Given the description of an element on the screen output the (x, y) to click on. 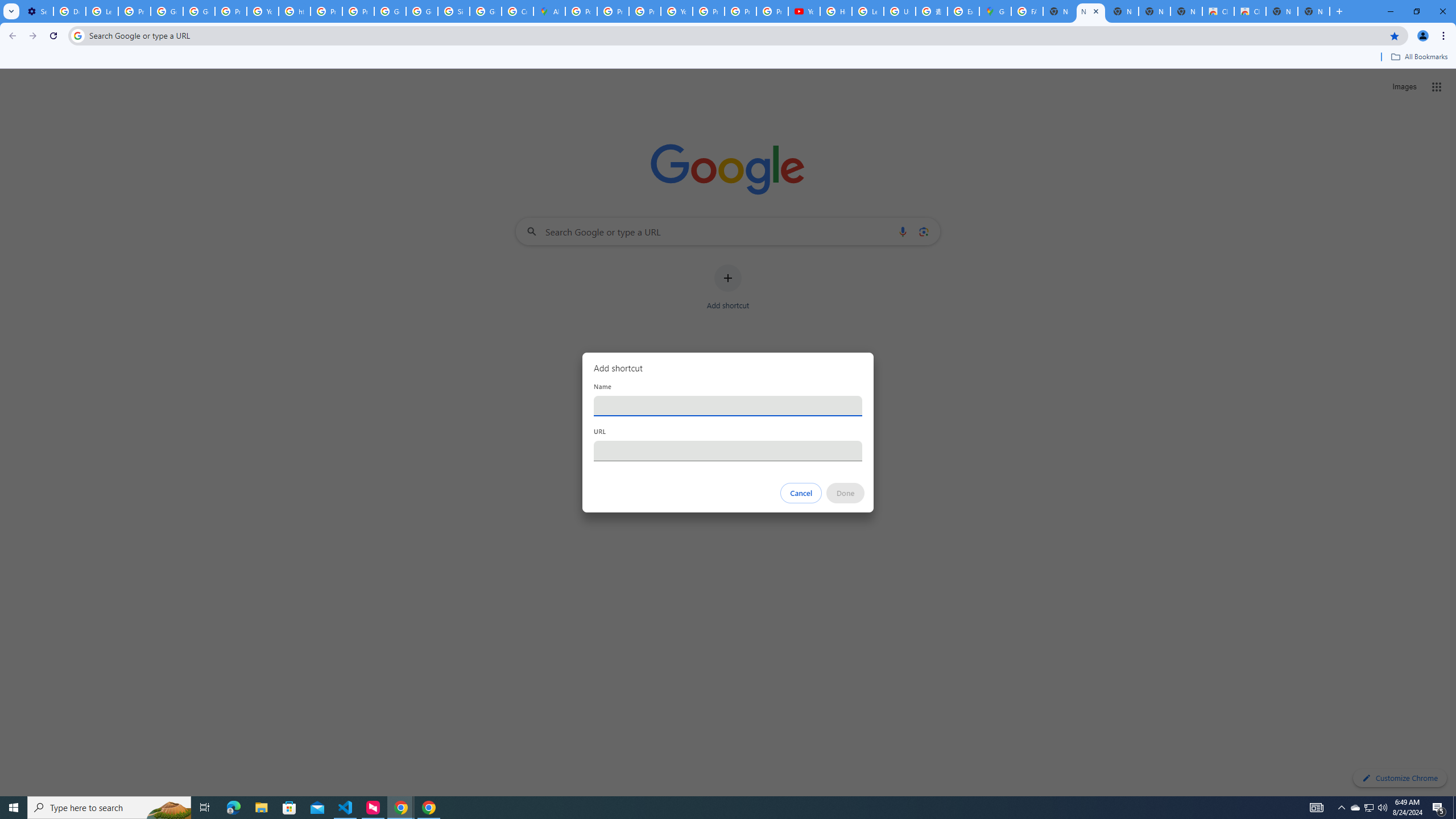
Privacy Help Center - Policies Help (613, 11)
YouTube (262, 11)
Privacy Checkup (772, 11)
Privacy Help Center - Policies Help (644, 11)
Cancel (801, 493)
Settings - On startup (37, 11)
Bookmarks (728, 58)
